Given the description of an element on the screen output the (x, y) to click on. 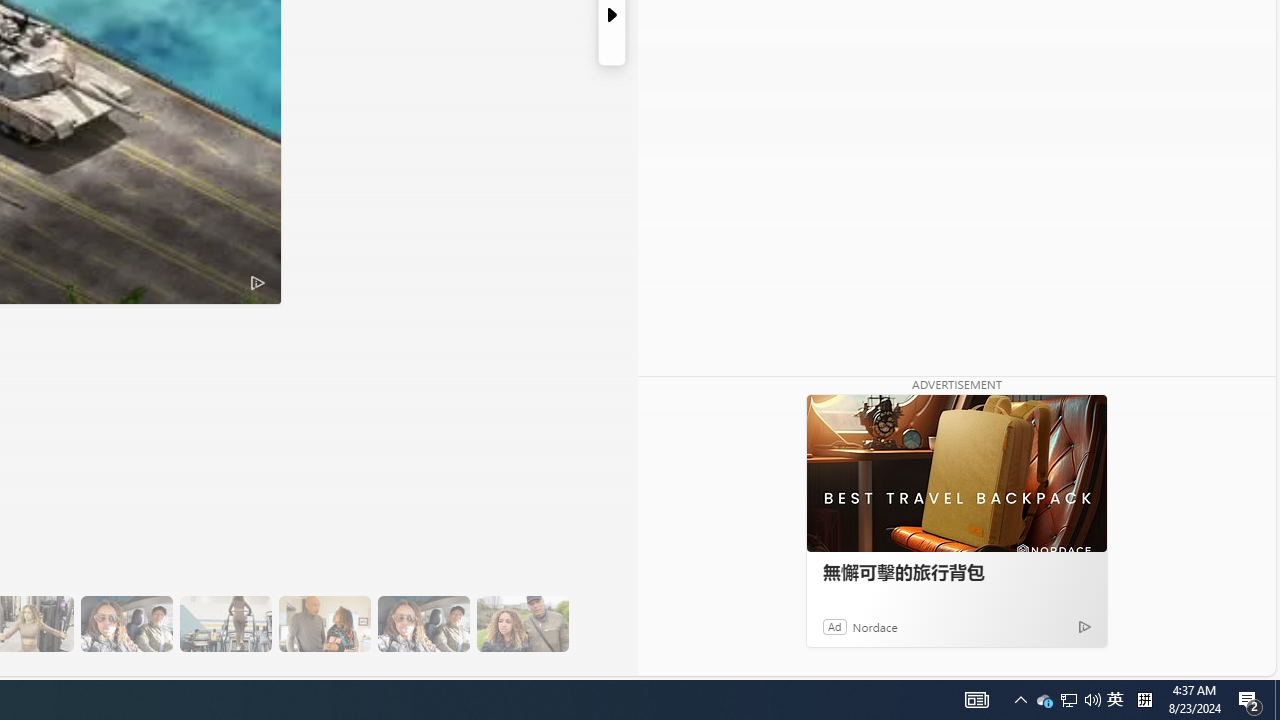
20 Overall, It Will Improve Your Health (522, 624)
16 The Couple's Program Helps with Accountability (125, 624)
19 It Also Simplifies Thiings (423, 624)
18 It's More Fun Doing It with Someone Else (324, 624)
18 It's More Fun Doing It with Someone Else (324, 624)
19 It Also Simplifies Thiings (423, 624)
